Given the description of an element on the screen output the (x, y) to click on. 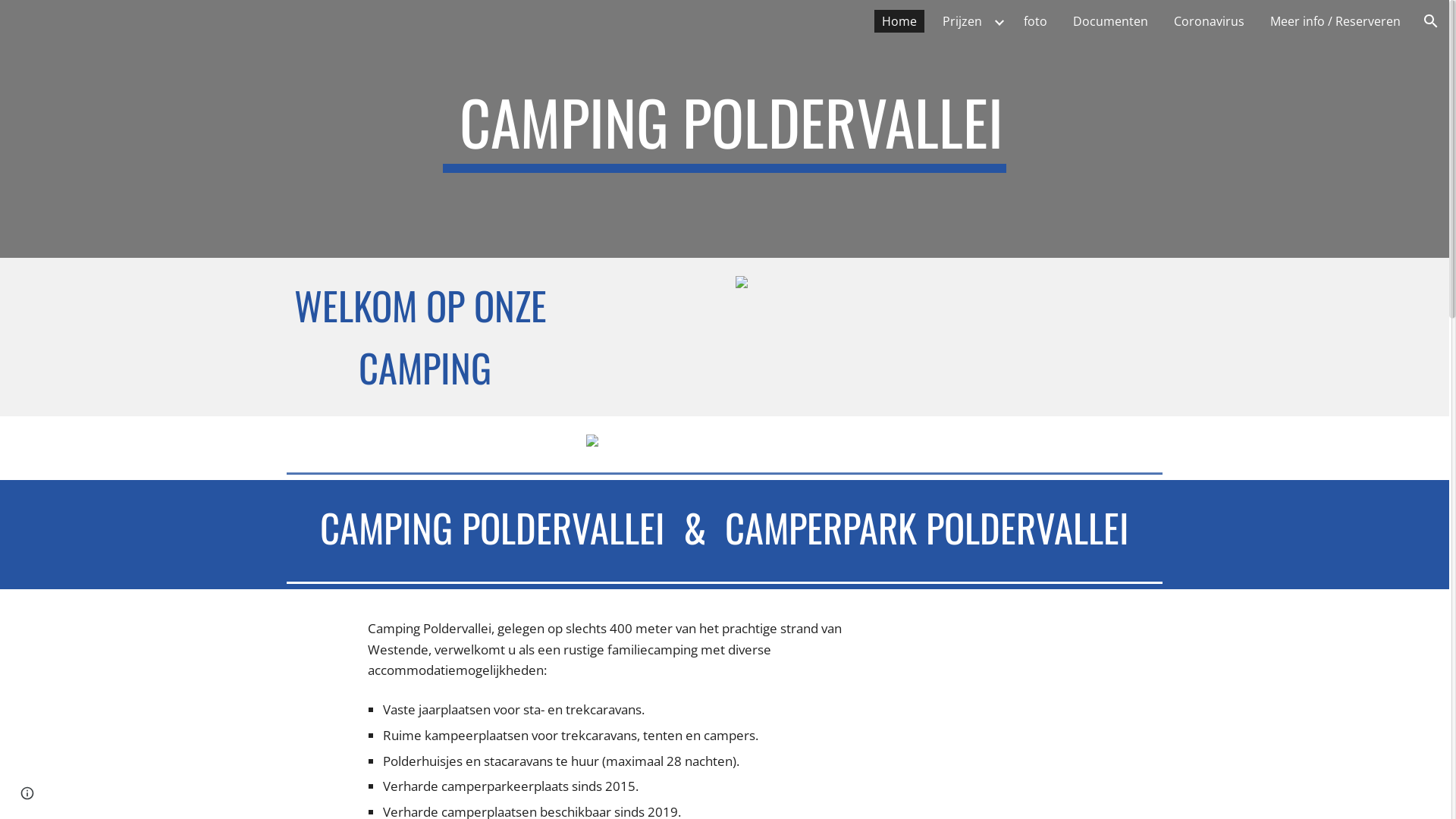
Expand/Collapse Element type: hover (998, 20)
Meer info / Reserveren Element type: text (1335, 20)
Coronavirus Element type: text (1209, 20)
Prijzen Element type: text (962, 20)
foto Element type: text (1035, 20)
Documenten Element type: text (1110, 20)
Home Element type: text (899, 20)
